Given the description of an element on the screen output the (x, y) to click on. 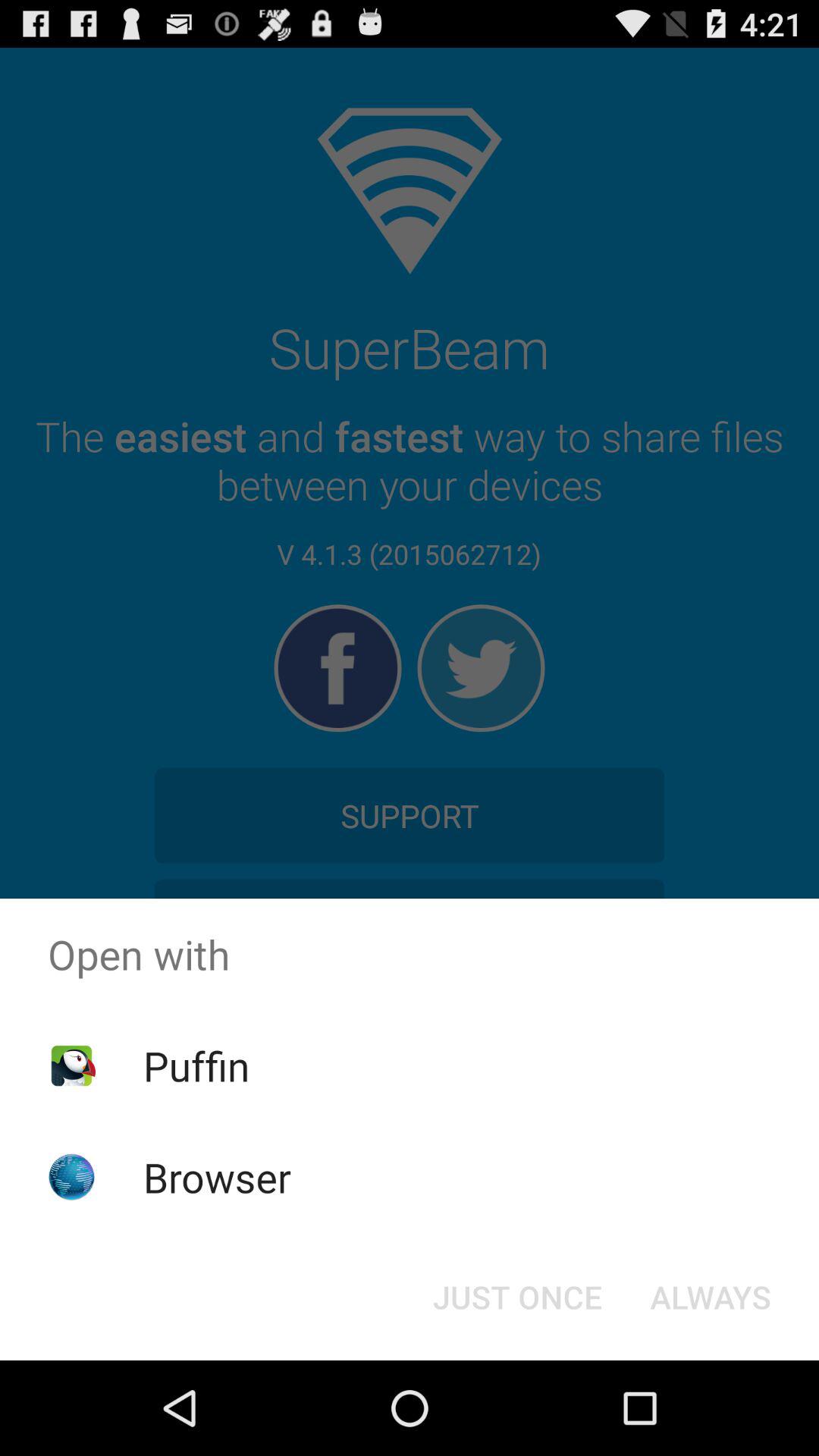
click the puffin app (196, 1065)
